Given the description of an element on the screen output the (x, y) to click on. 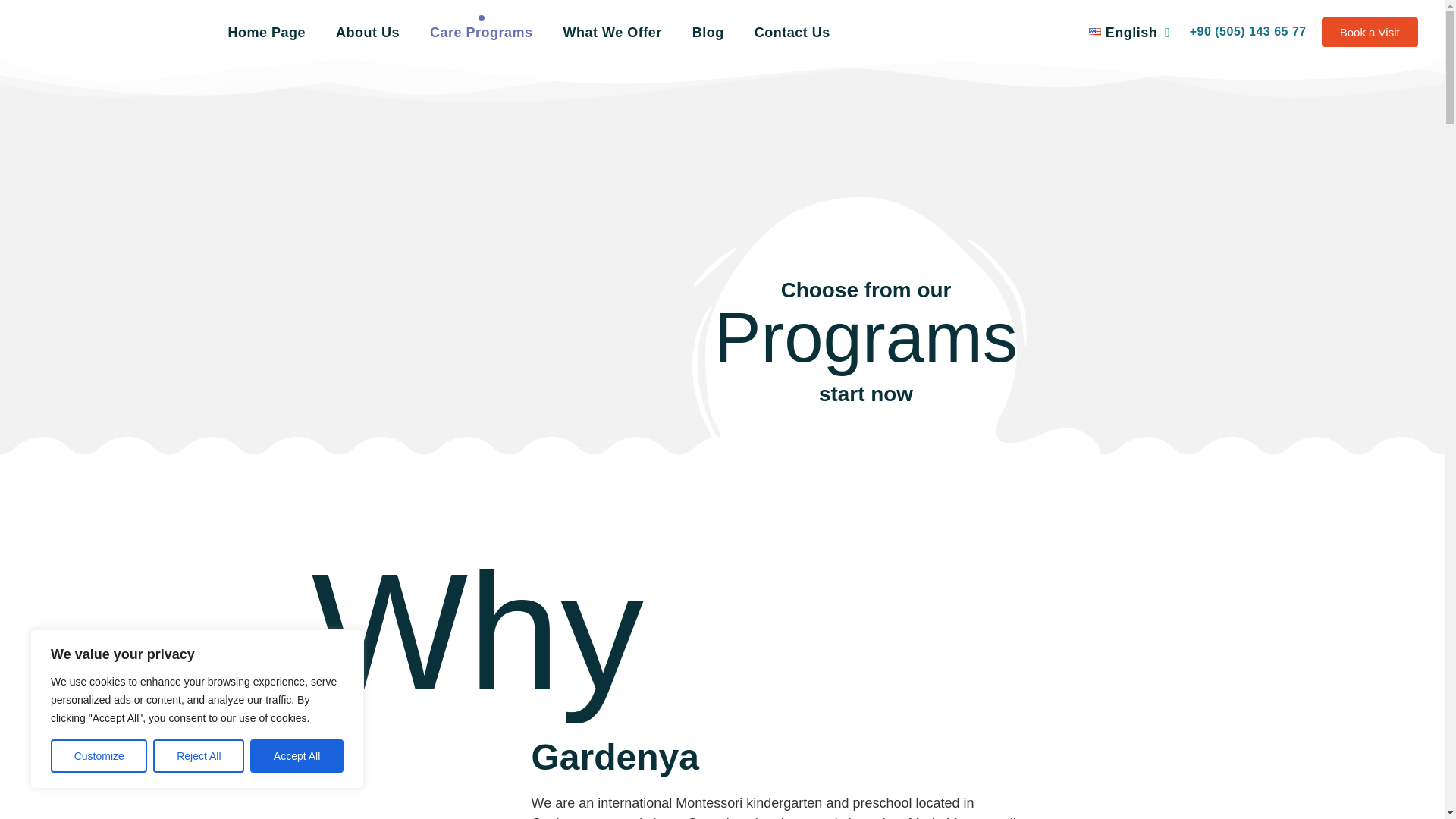
Home Page (266, 32)
Customize (98, 756)
Contact Us (792, 32)
English (1122, 32)
Accept All (296, 756)
Blog (708, 32)
Care Programs (481, 32)
About Us (368, 32)
What We Offer (612, 32)
